Given the description of an element on the screen output the (x, y) to click on. 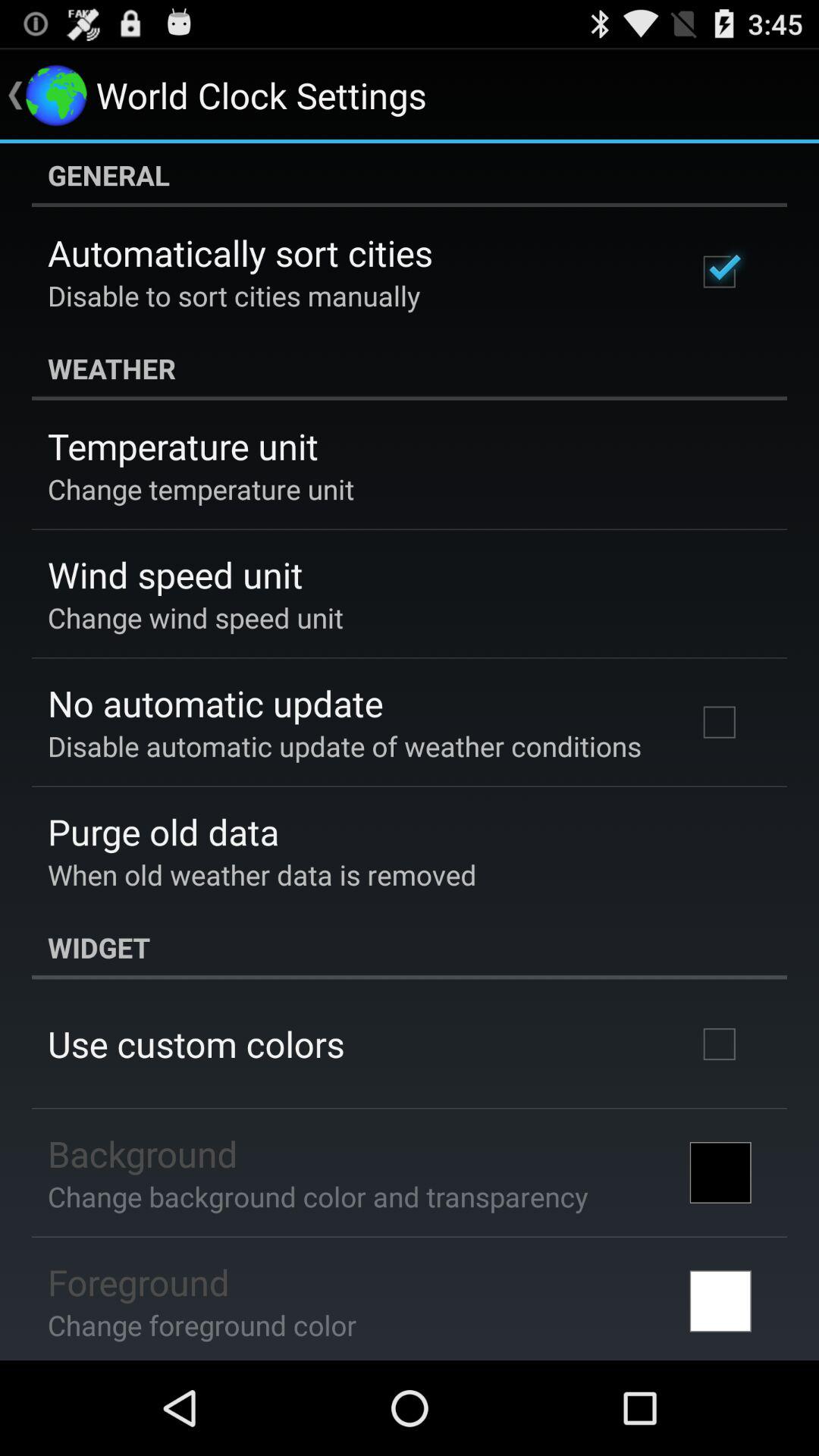
scroll to the use custom colors (195, 1043)
